Given the description of an element on the screen output the (x, y) to click on. 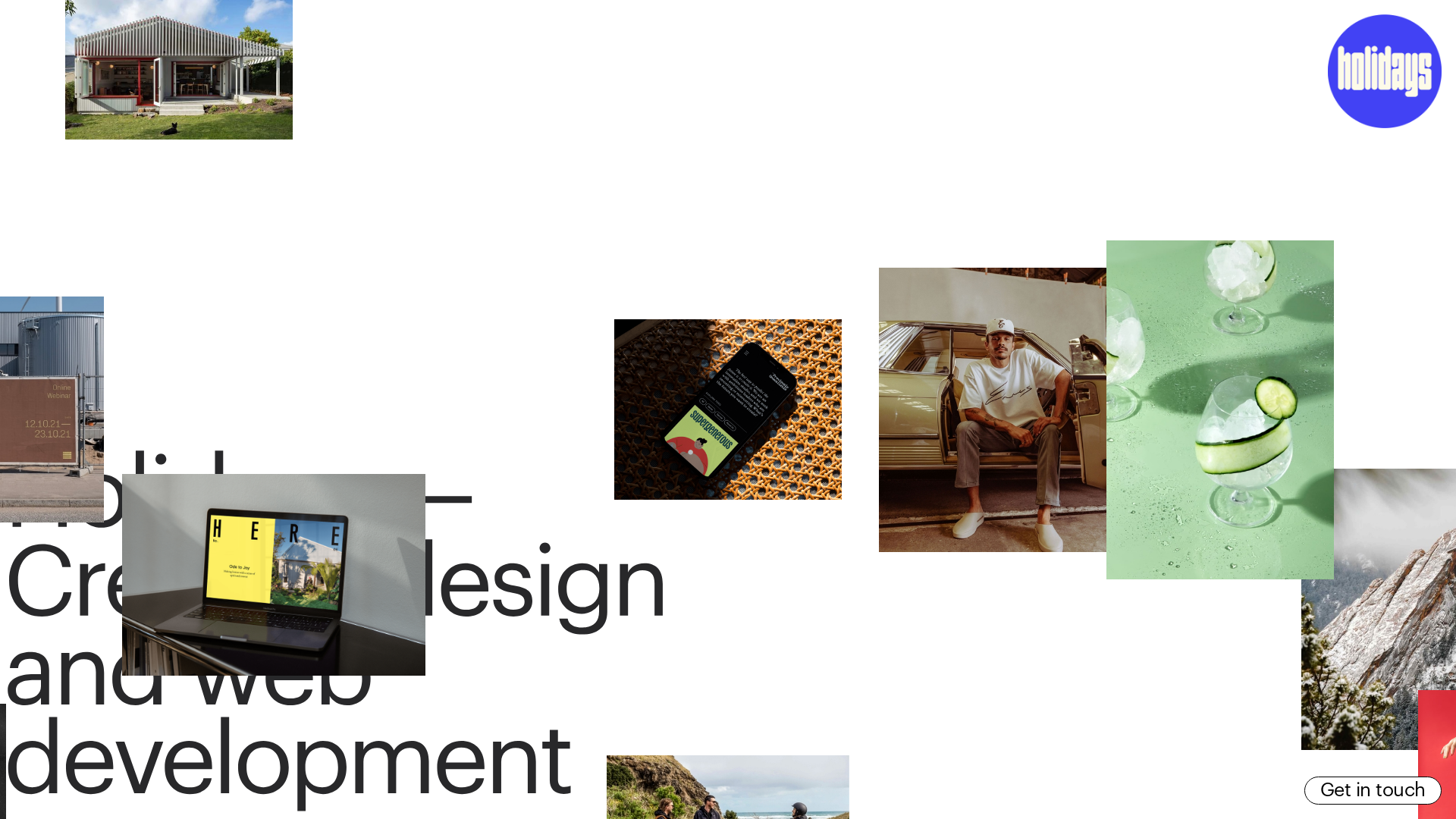
Get in touch Element type: text (1372, 790)
